Given the description of an element on the screen output the (x, y) to click on. 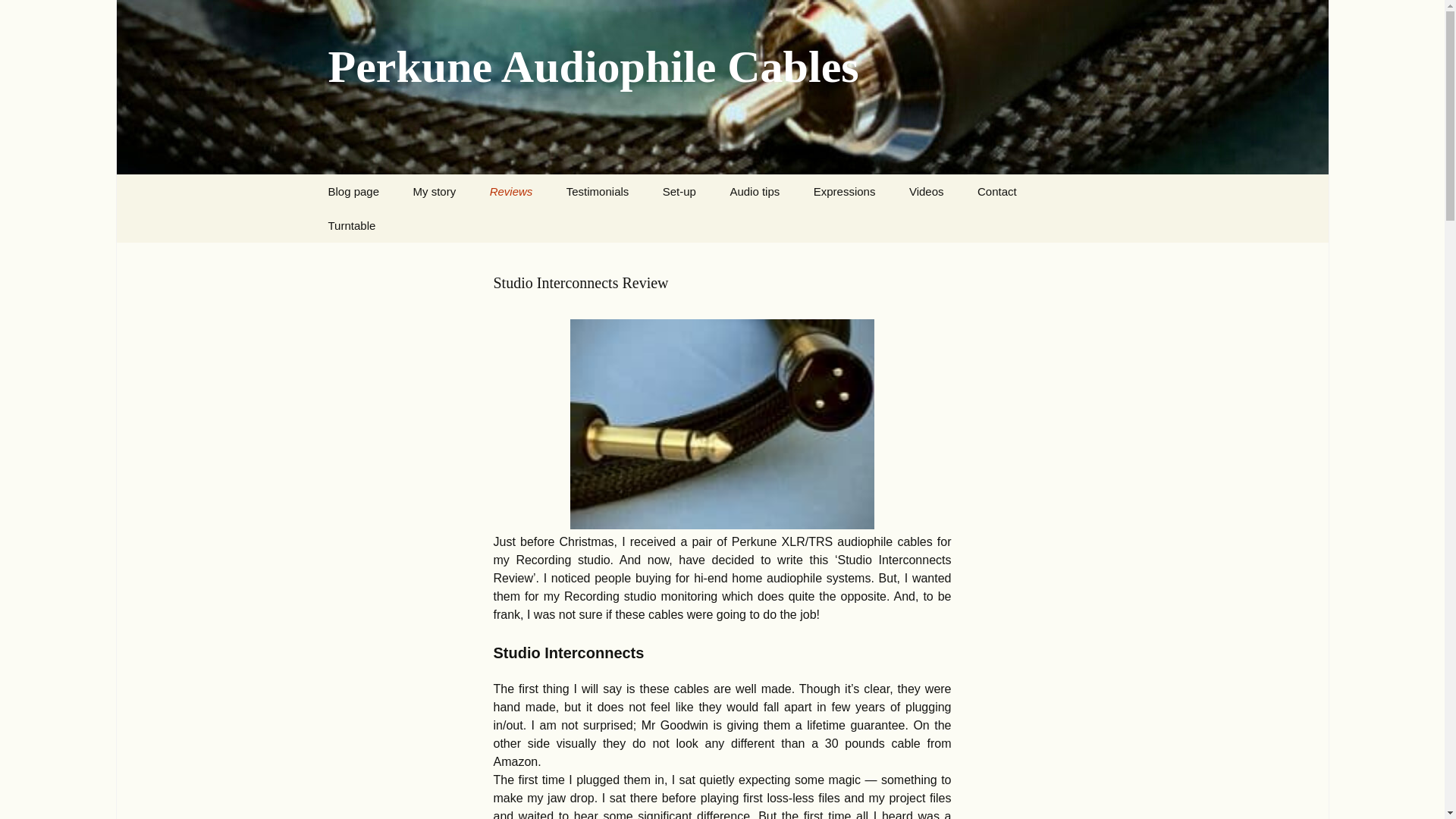
My story (434, 191)
Contact (997, 191)
Pro-jet turntable series (388, 259)
Turntable (351, 225)
Testimonials (598, 191)
Videos (926, 191)
Audio tips (754, 191)
Speaker cable review by Ludwig Hegel (550, 230)
